Given the description of an element on the screen output the (x, y) to click on. 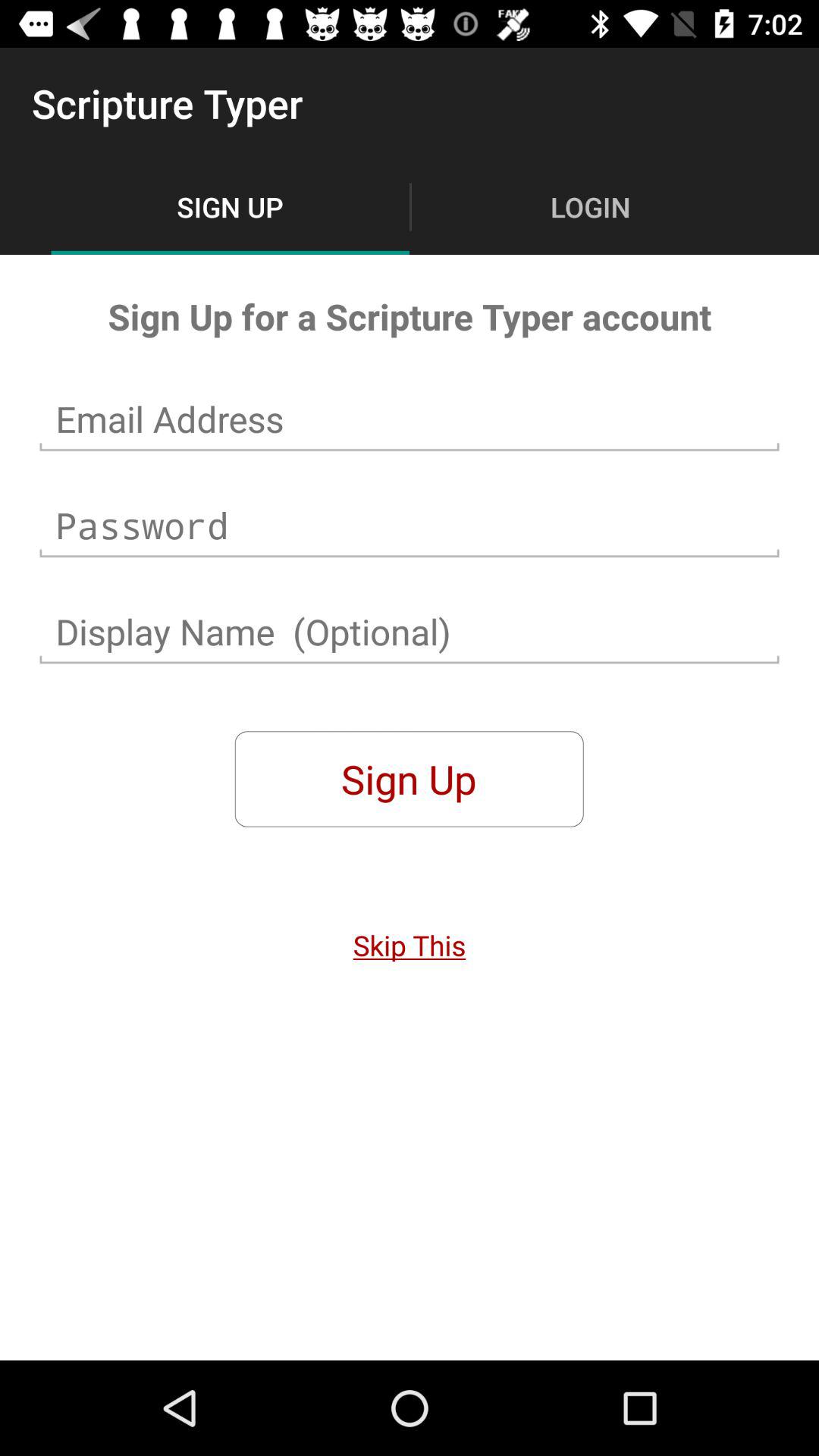
enter display name (409, 632)
